Given the description of an element on the screen output the (x, y) to click on. 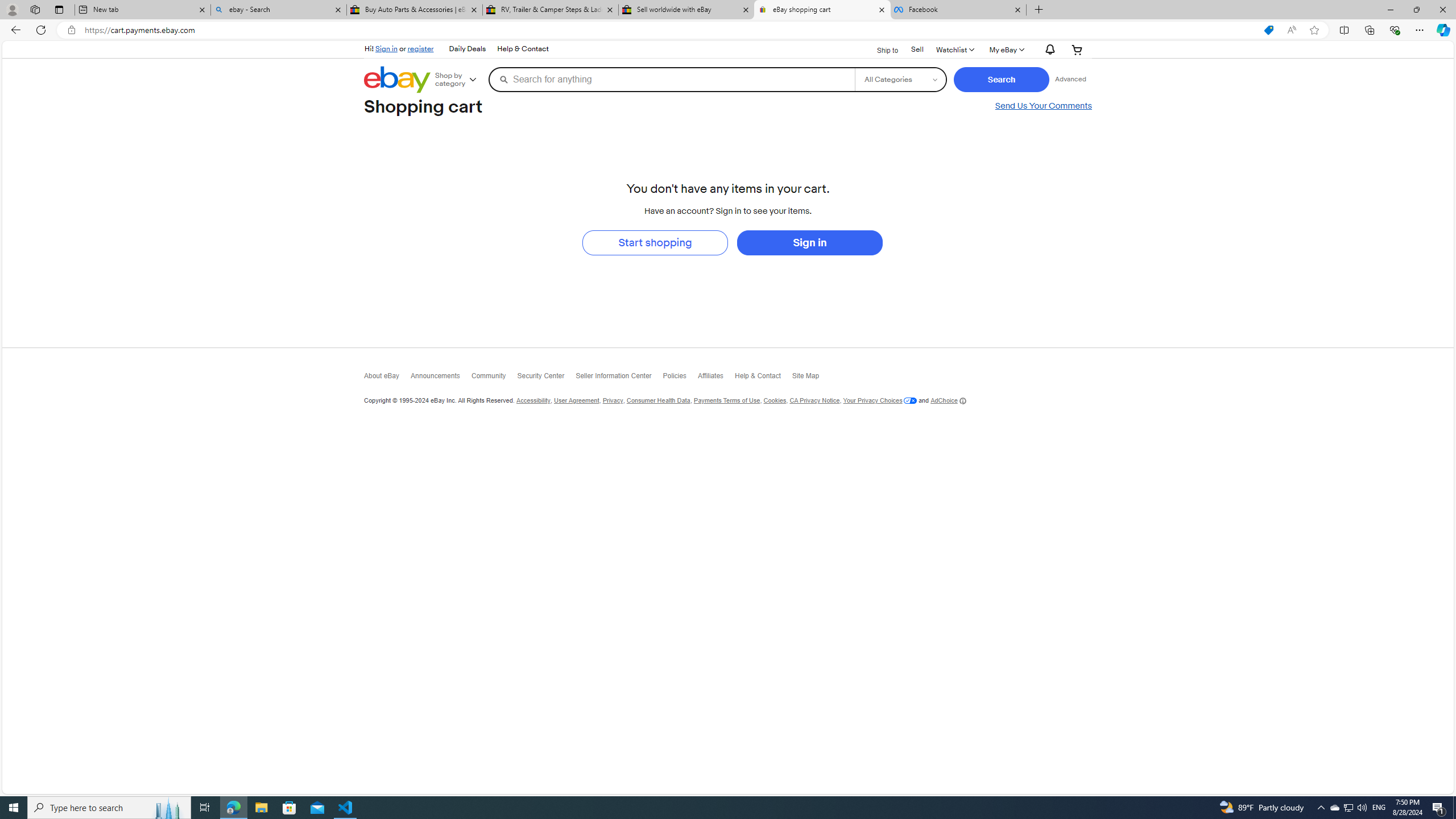
Seller Information Center (618, 378)
Community (493, 378)
Sell (917, 49)
register (420, 48)
RV, Trailer & Camper Steps & Ladders for sale | eBay (550, 9)
eBay Home (397, 79)
Privacy (612, 400)
eBay shopping cart (822, 9)
Policies (679, 378)
Daily Deals (467, 49)
Help & Contact (763, 378)
Shop by category (459, 79)
Facebook (957, 9)
